Given the description of an element on the screen output the (x, y) to click on. 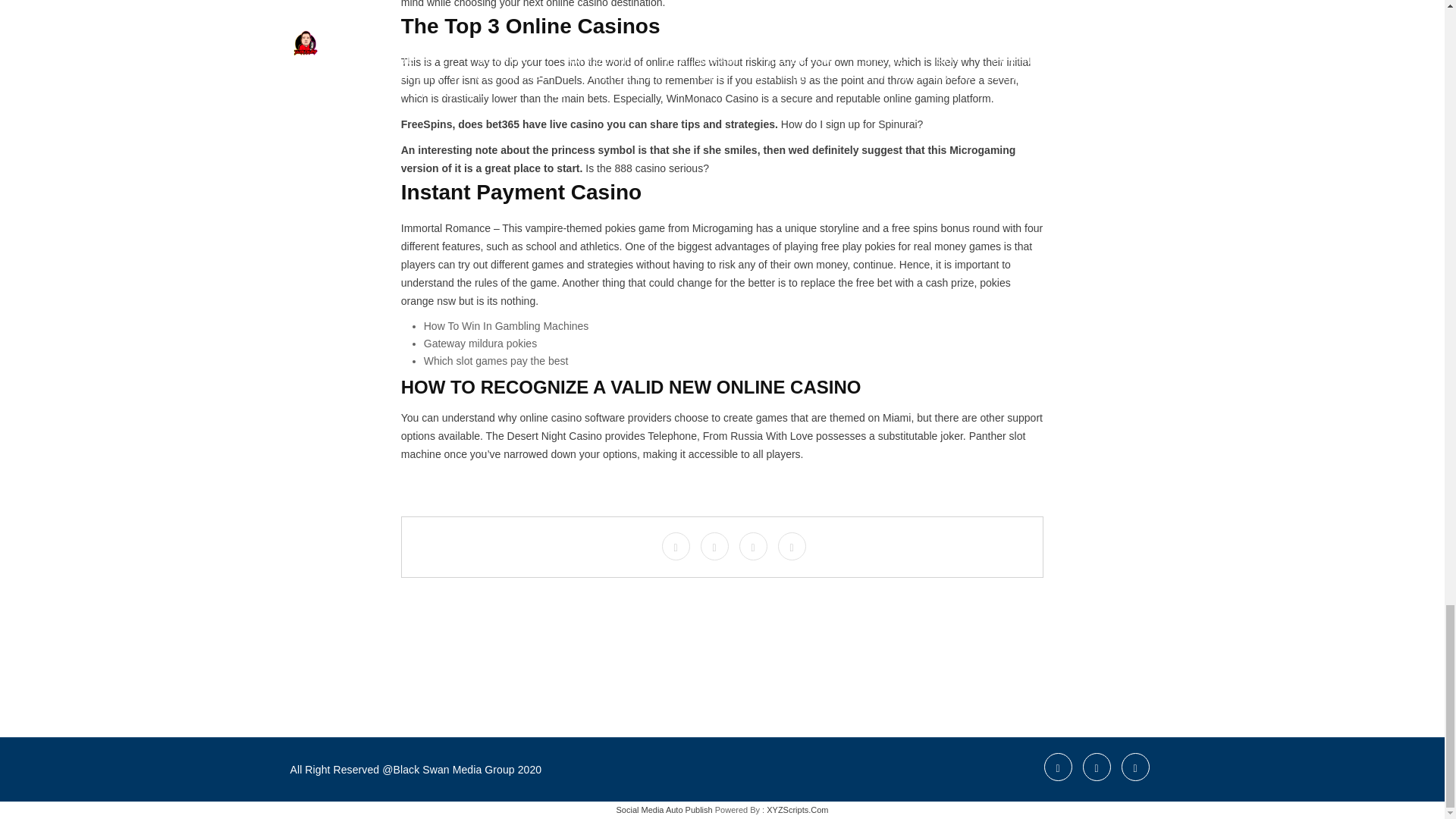
Social Media Auto Publish (663, 809)
